Given the description of an element on the screen output the (x, y) to click on. 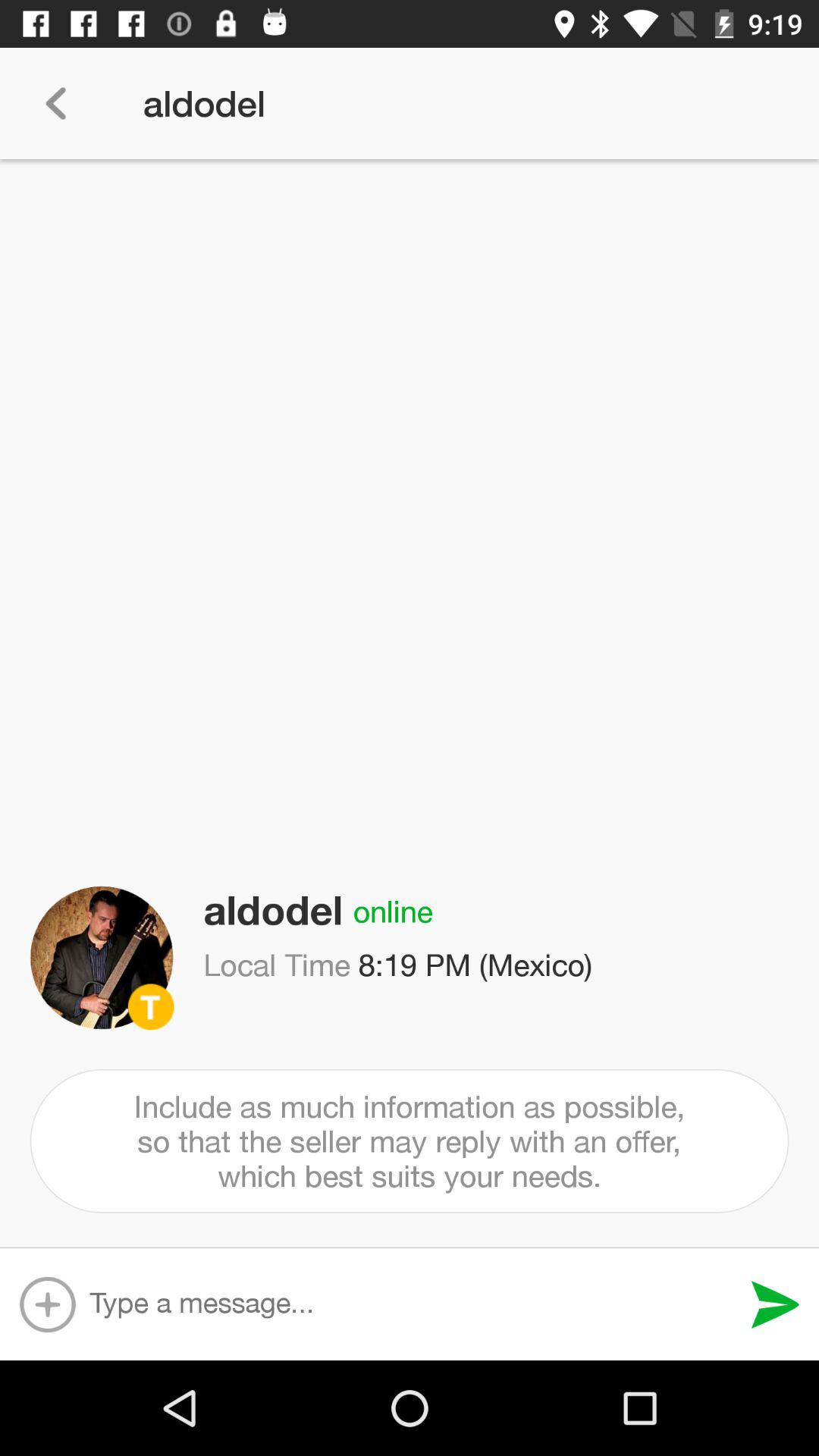
text input bar (413, 1304)
